Given the description of an element on the screen output the (x, y) to click on. 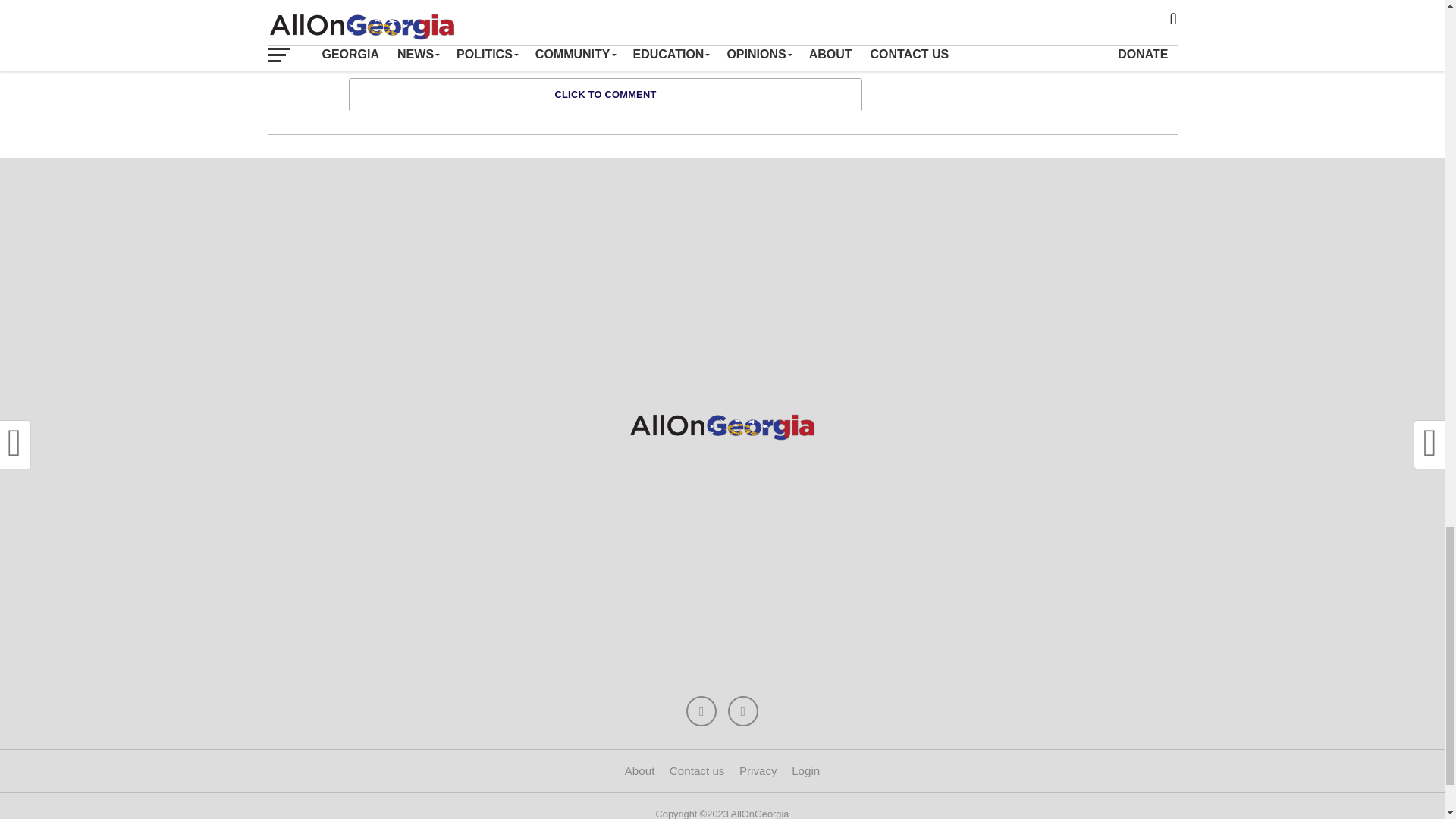
Posts by AllOnGeorgia (447, 22)
YouTube video player (1029, 33)
